Given the description of an element on the screen output the (x, y) to click on. 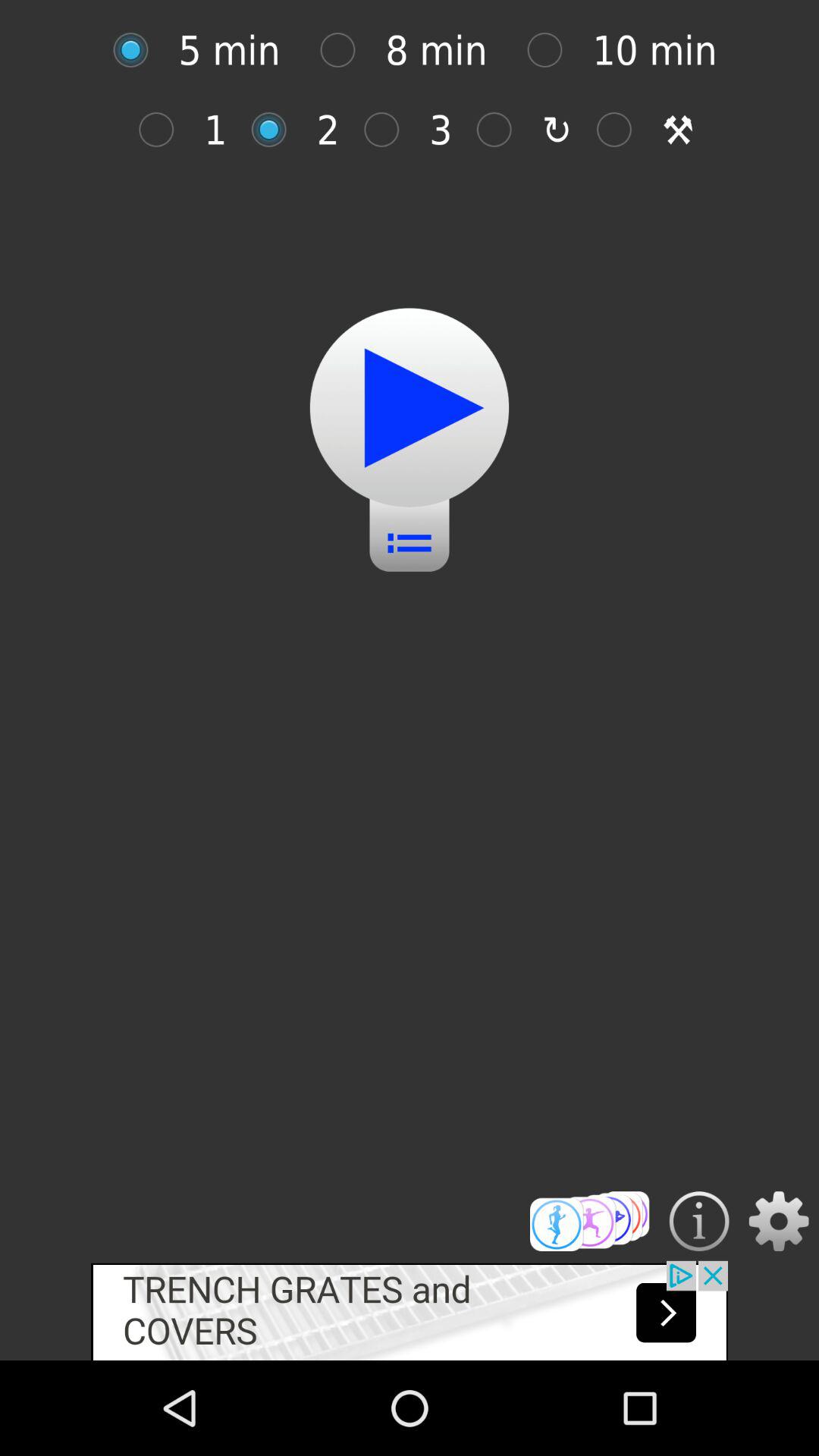
more options (589, 1221)
